Given the description of an element on the screen output the (x, y) to click on. 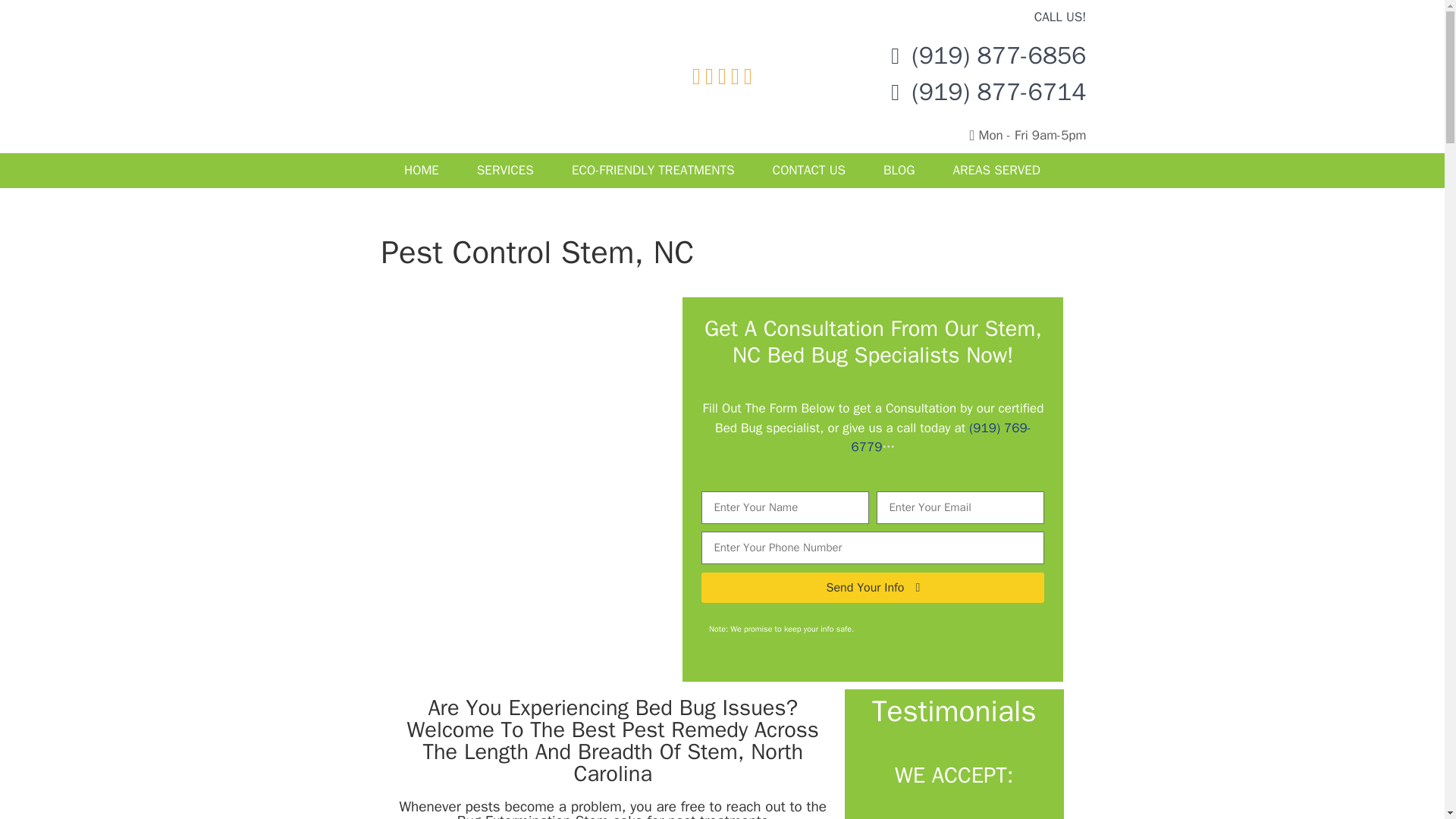
AREAS SERVED (996, 170)
HOME (421, 170)
SERVICES (505, 170)
BLOG (898, 170)
CONTACT US (809, 170)
ECO-FRIENDLY TREATMENTS (653, 170)
